Given the description of an element on the screen output the (x, y) to click on. 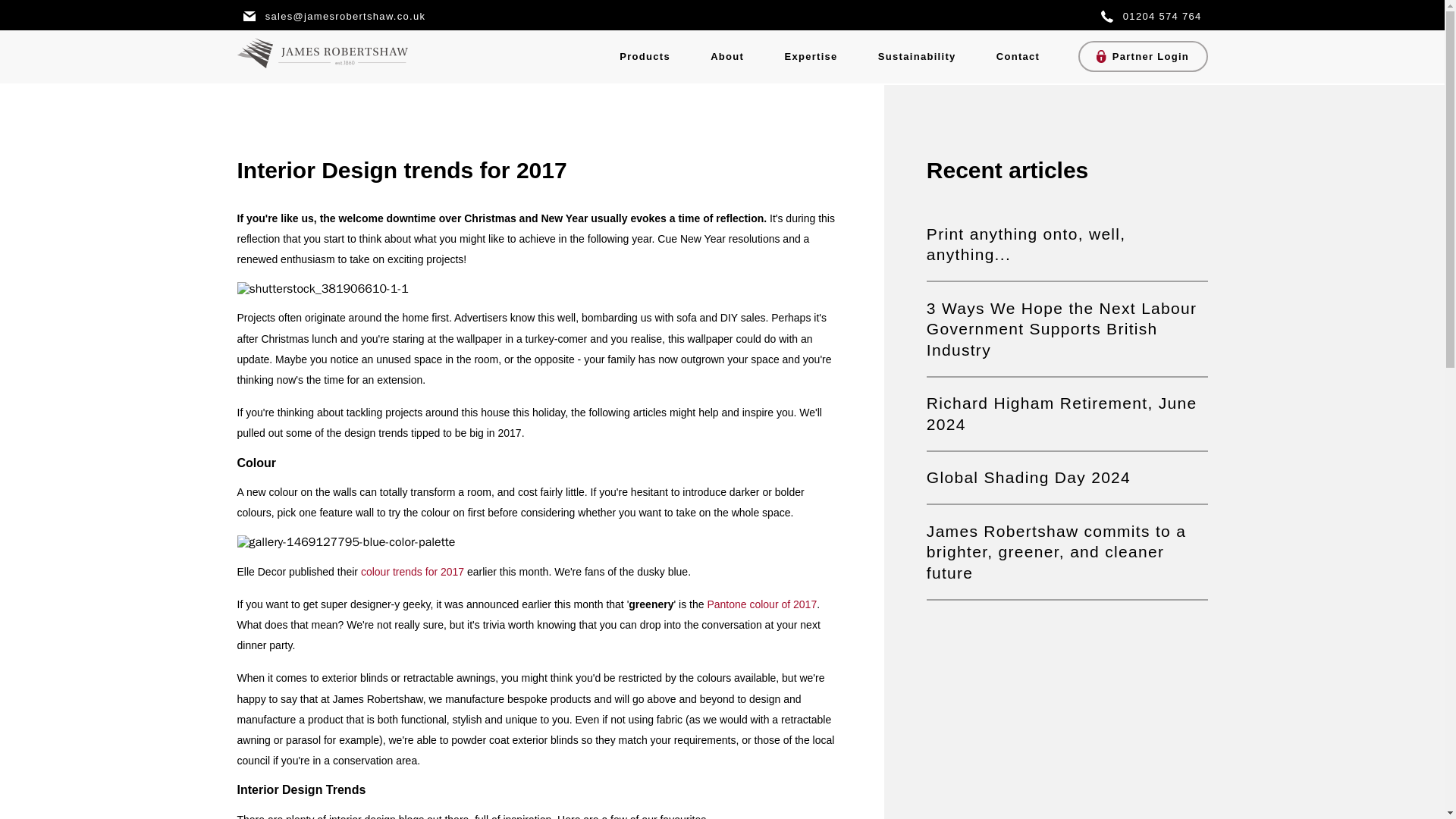
01204 574 764 (1150, 15)
Products (644, 56)
About (726, 56)
